Given the description of an element on the screen output the (x, y) to click on. 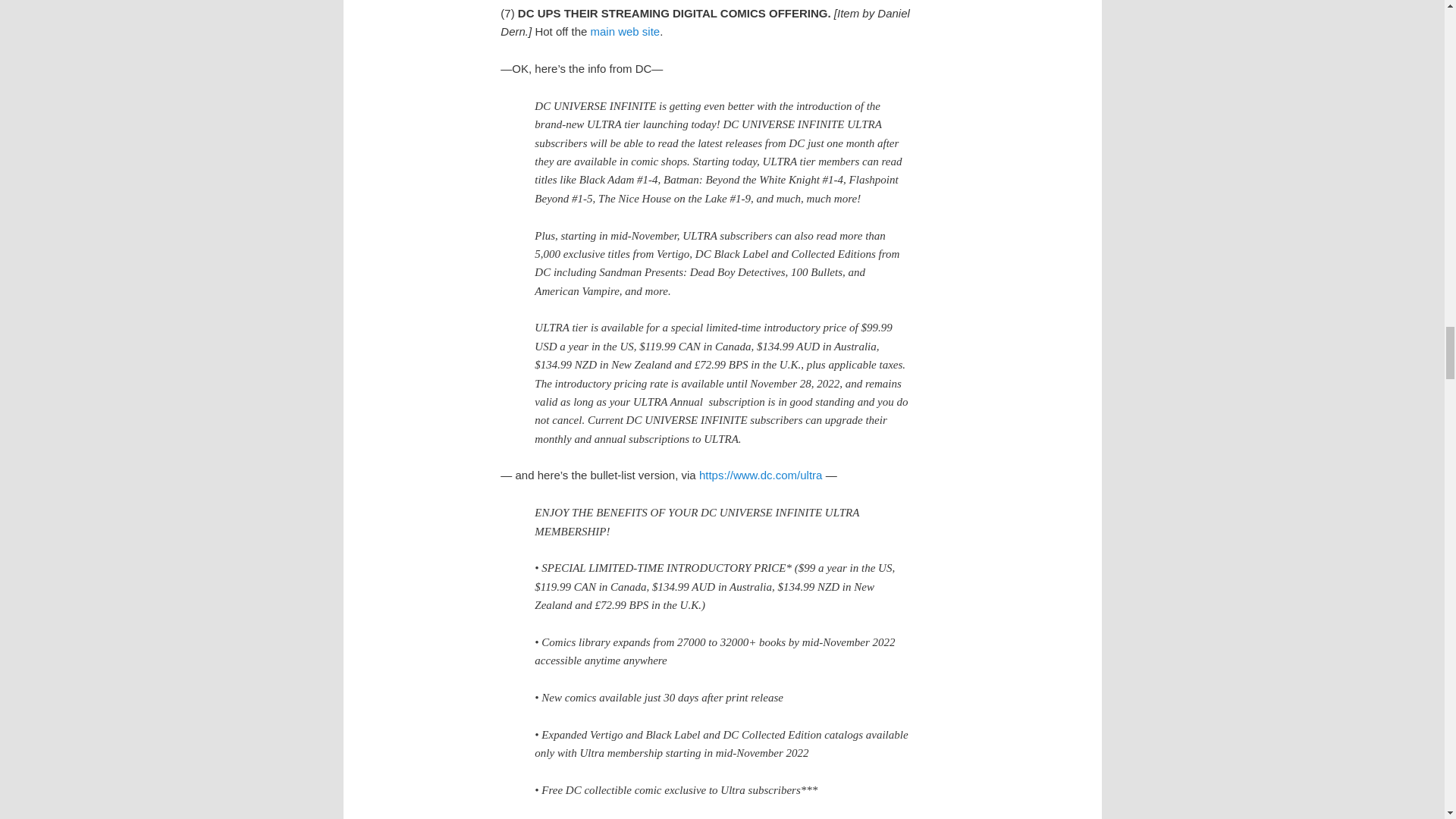
main web site (624, 31)
